Given the description of an element on the screen output the (x, y) to click on. 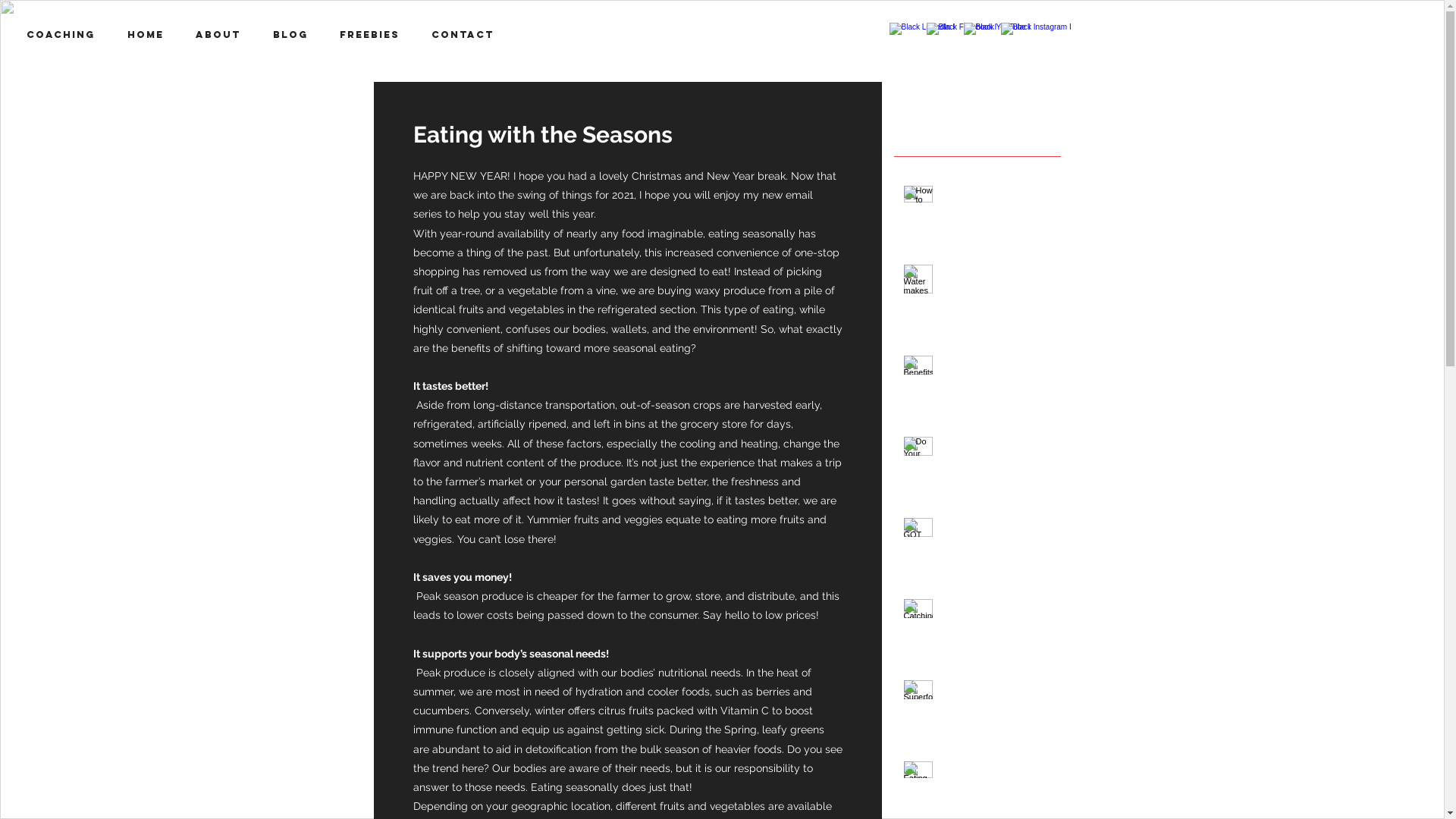
Catching Some ZZZZZs Element type: text (996, 615)
About Element type: text (222, 34)
Water makes the world go round! Element type: text (996, 281)
Contact Element type: text (467, 34)
Superfood Smoothies! Element type: text (996, 697)
Do Your Skin A Favour! Element type: text (996, 453)
Eating with the Seasons Element type: text (996, 778)
Home Element type: text (150, 34)
Blog Element type: text (294, 34)
Freebies Element type: text (374, 34)
GOT JUICE? Element type: text (996, 527)
How to DITCH the booze! Element type: text (996, 202)
Benefits of a mindful practice Element type: text (996, 372)
Coaching Element type: text (65, 34)
